Given the description of an element on the screen output the (x, y) to click on. 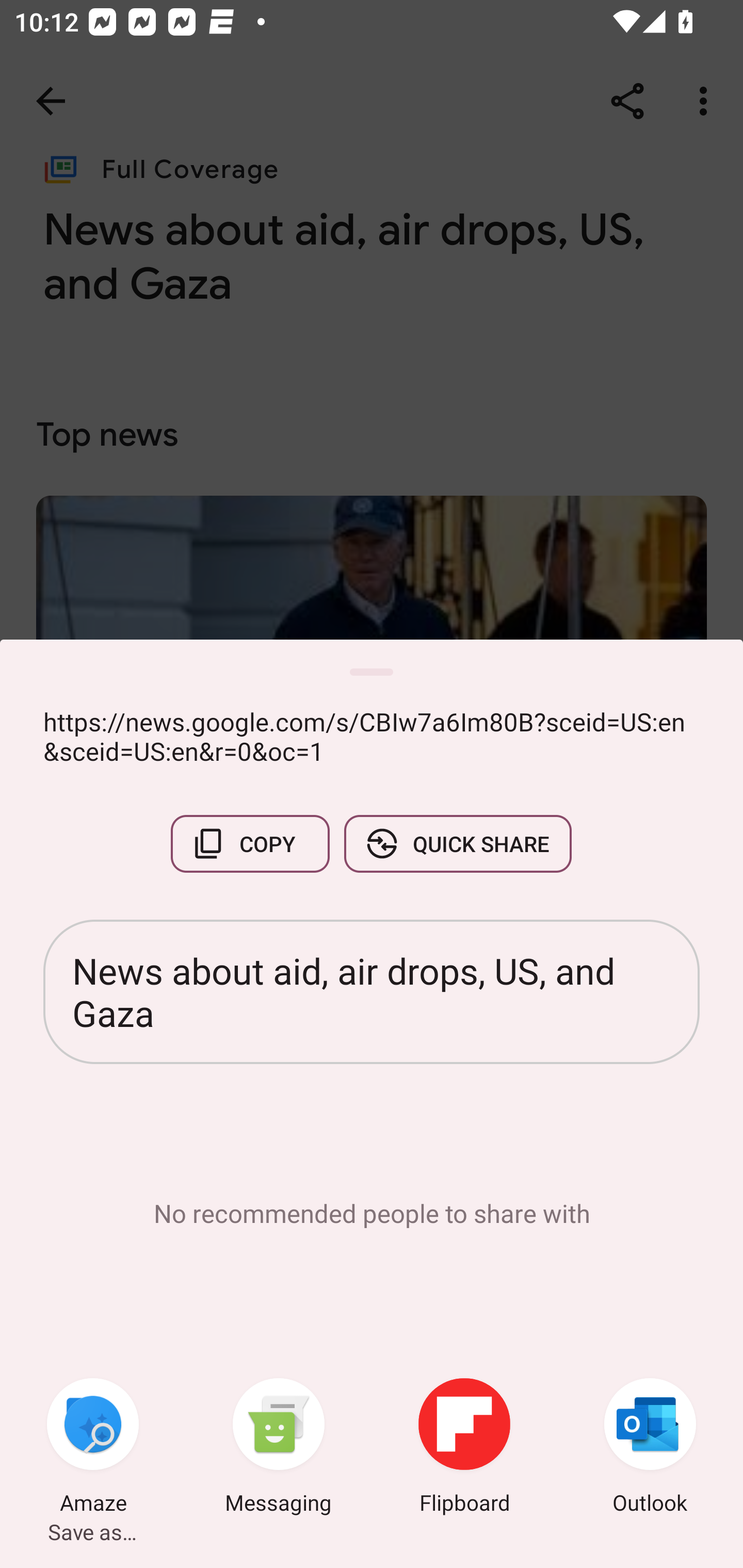
COPY (249, 844)
QUICK SHARE (457, 844)
Amaze Save as… (92, 1448)
Messaging (278, 1448)
Flipboard (464, 1448)
Outlook (650, 1448)
